Given the description of an element on the screen output the (x, y) to click on. 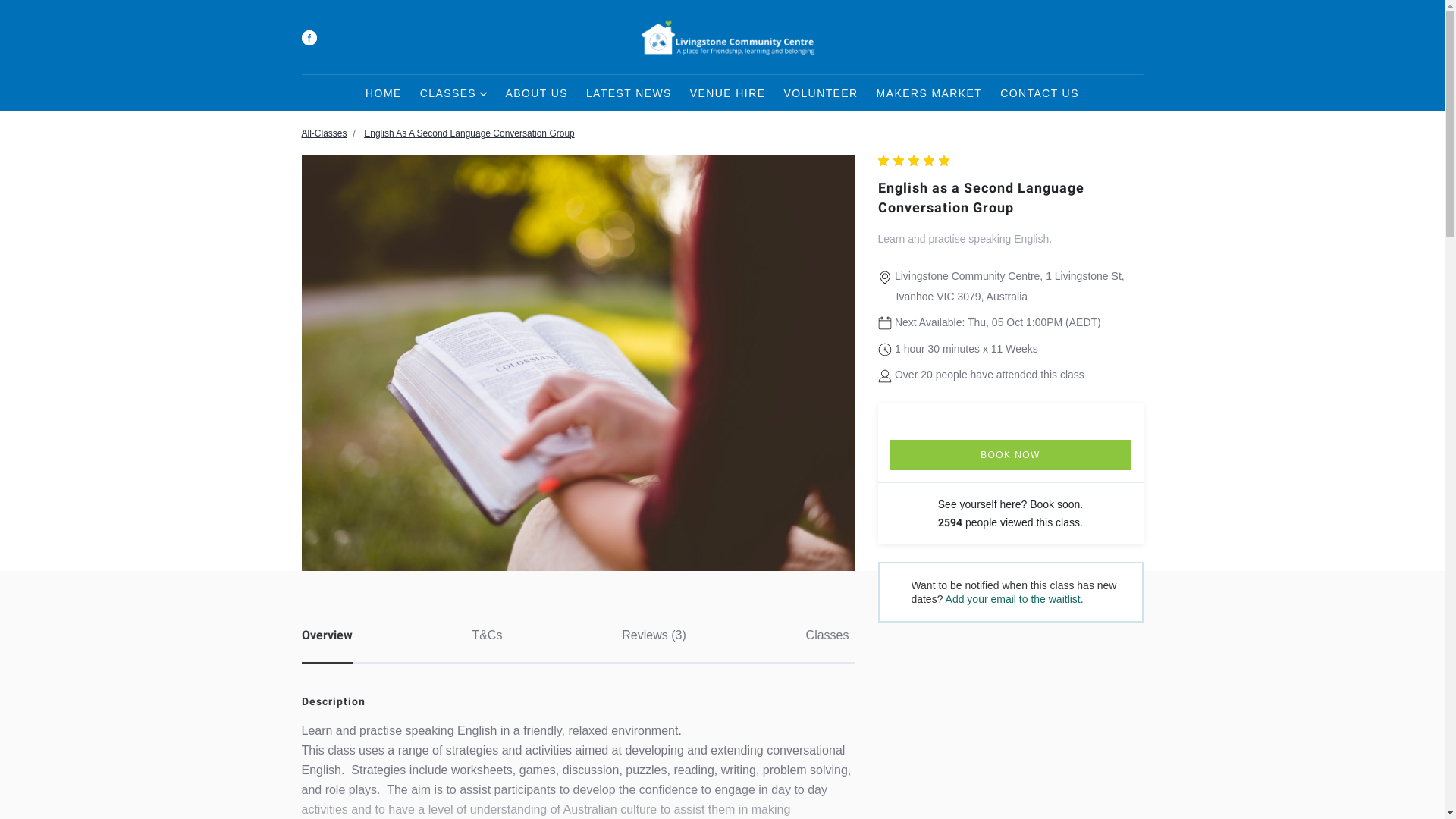
Classes Element type: text (827, 633)
CLASSES Element type: text (453, 93)
ABOUT US Element type: text (536, 93)
VOLUNTEER Element type: text (820, 93)
LATEST NEWS Element type: text (628, 93)
Add your email to the waitlist. Element type: text (1014, 599)
Overview Element type: text (326, 634)
Reviews (3) Element type: text (653, 633)
Yes, waitlist me! Element type: text (722, 403)
HOME Element type: text (383, 93)
T&Cs Element type: text (486, 633)
Facebook Element type: hover (308, 37)
English As A Second Language Conversation Group Element type: text (469, 133)
MAKERS MARKET Element type: text (929, 93)
CONTACT US Element type: text (1039, 93)
BOOK NOW Element type: text (1010, 454)
VENUE HIRE Element type: text (727, 93)
All-Classes Element type: text (324, 133)
